Given the description of an element on the screen output the (x, y) to click on. 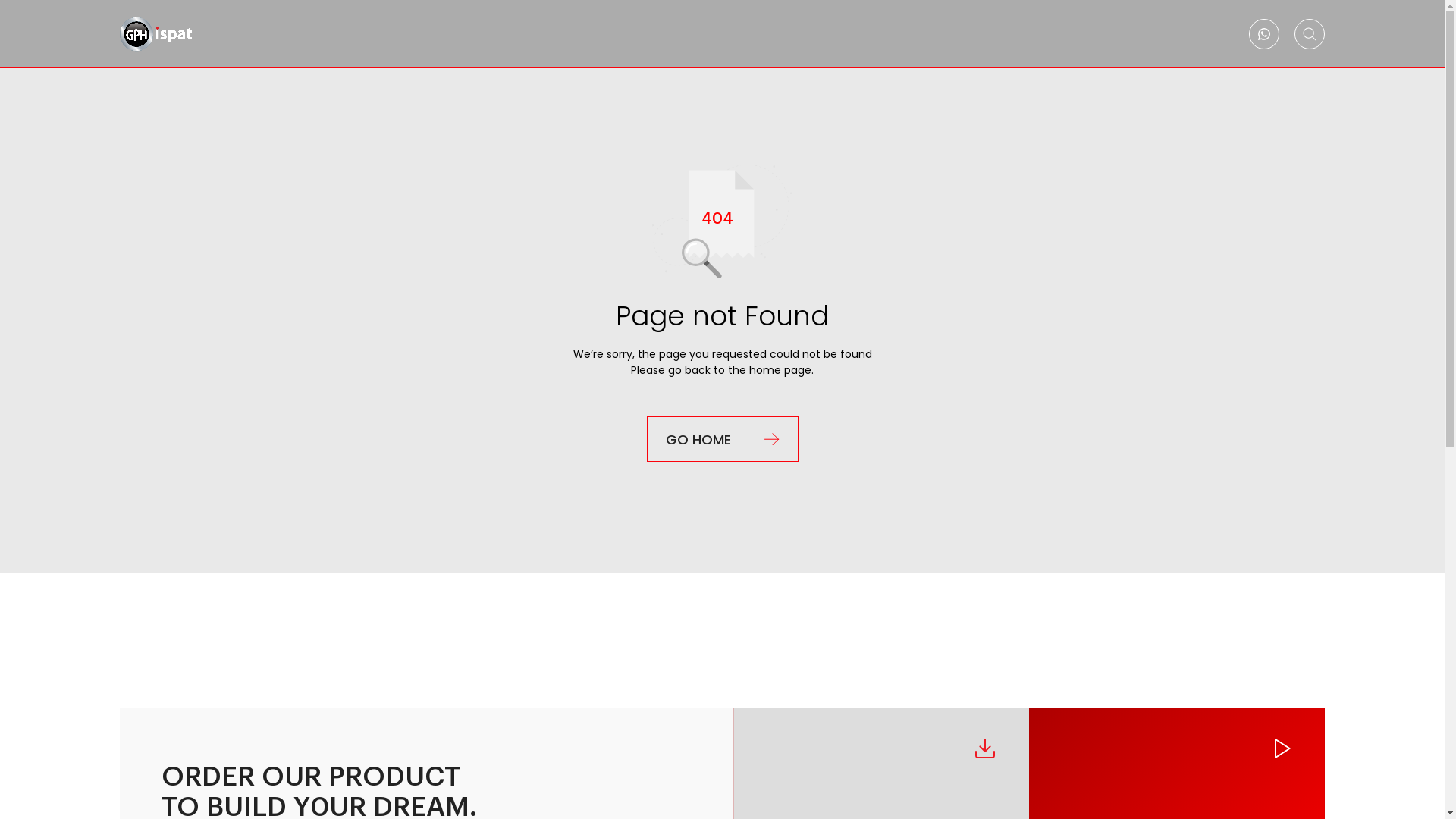
GO HOME Element type: text (721, 438)
